Given the description of an element on the screen output the (x, y) to click on. 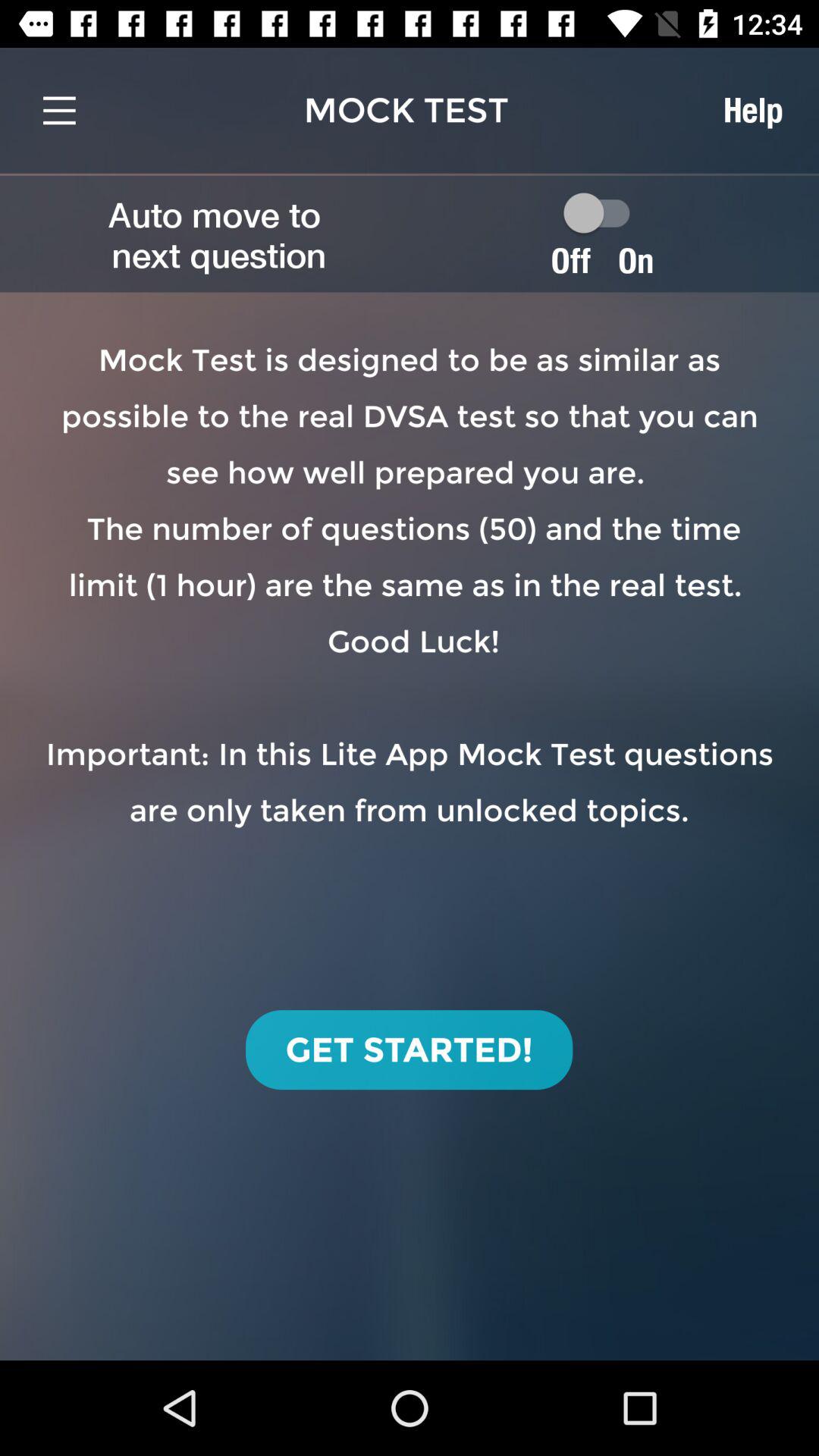
swipe to help icon (752, 110)
